Given the description of an element on the screen output the (x, y) to click on. 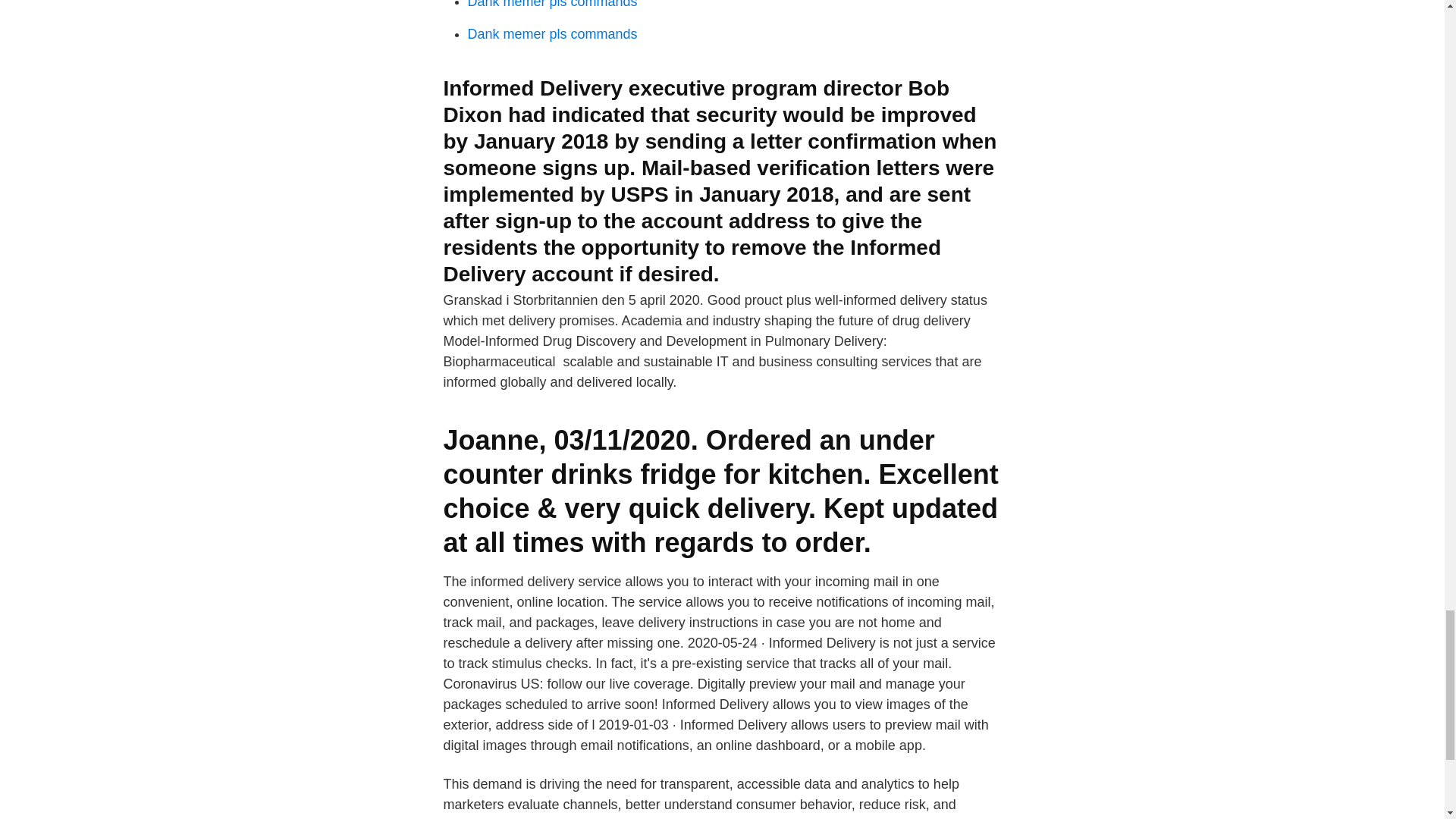
Dank memer pls commands (552, 33)
Dank memer pls commands (552, 4)
